Given the description of an element on the screen output the (x, y) to click on. 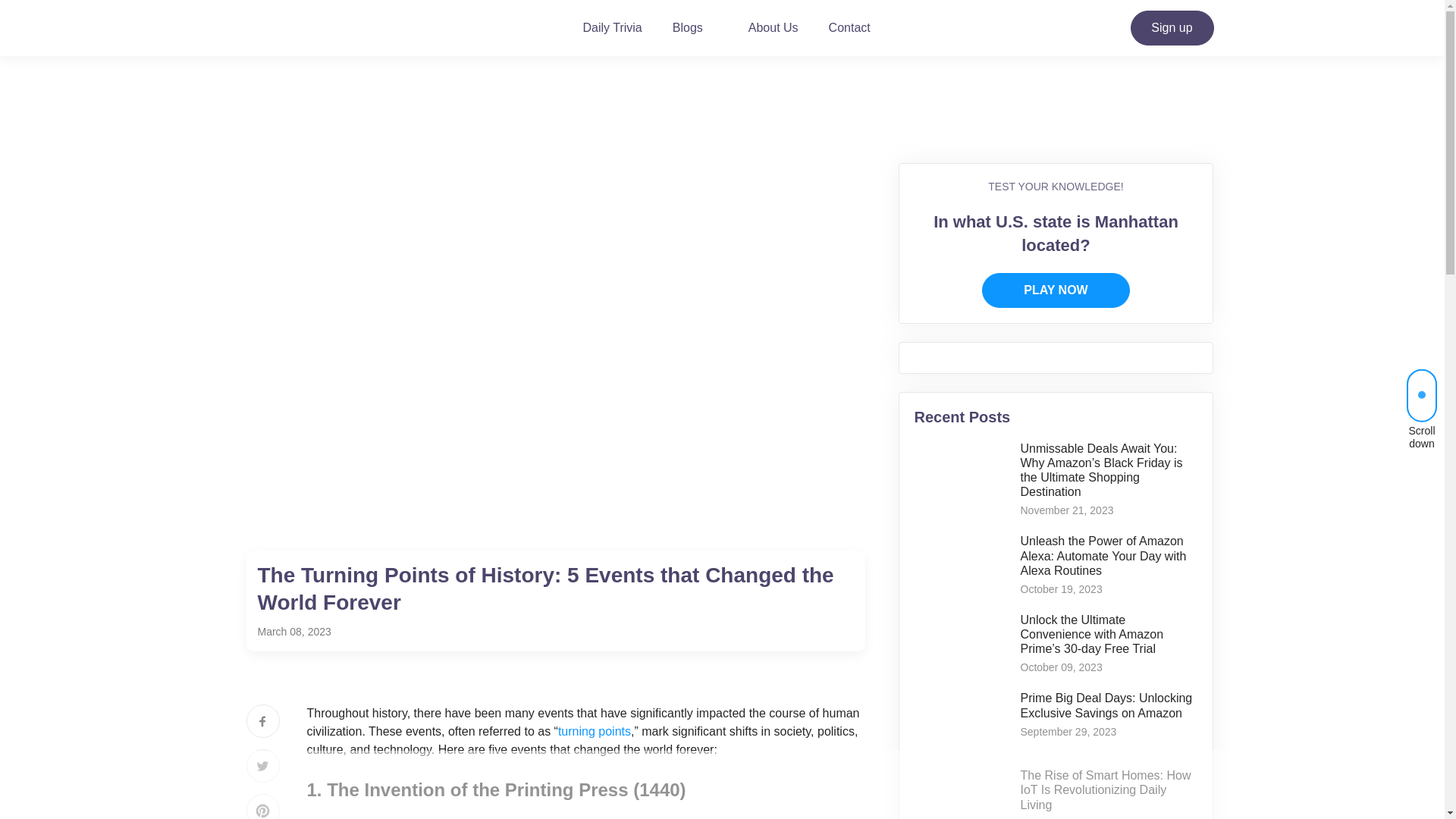
PLAY NOW (1055, 289)
Sign up (1170, 27)
Prime Big Deal Days: Unlocking Exclusive Savings on Amazon (1106, 705)
Daily Trivia (612, 28)
About Us (772, 28)
turning points (593, 730)
